Given the description of an element on the screen output the (x, y) to click on. 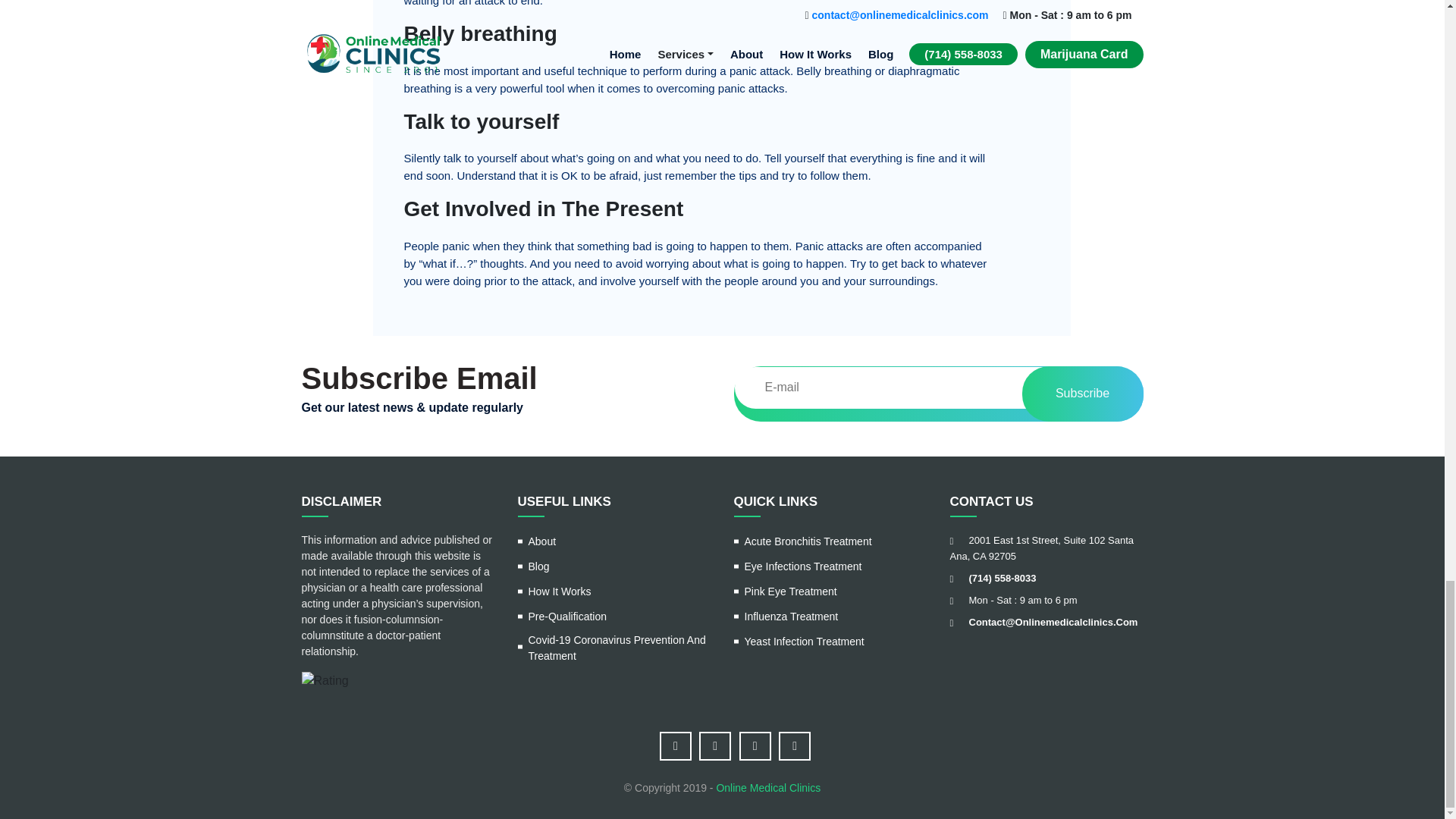
Influenza Treatment (785, 620)
Acute Bronchitis Treatment (802, 545)
Yeast Infection Treatment (798, 645)
Subscribe (1082, 393)
Subscribe (1082, 393)
Eye Infections Treatment (797, 570)
How It Works (553, 595)
About (536, 545)
Covid-19 Coronavirus Prevention And Treatment (613, 651)
Pink Eye Treatment (785, 595)
